Given the description of an element on the screen output the (x, y) to click on. 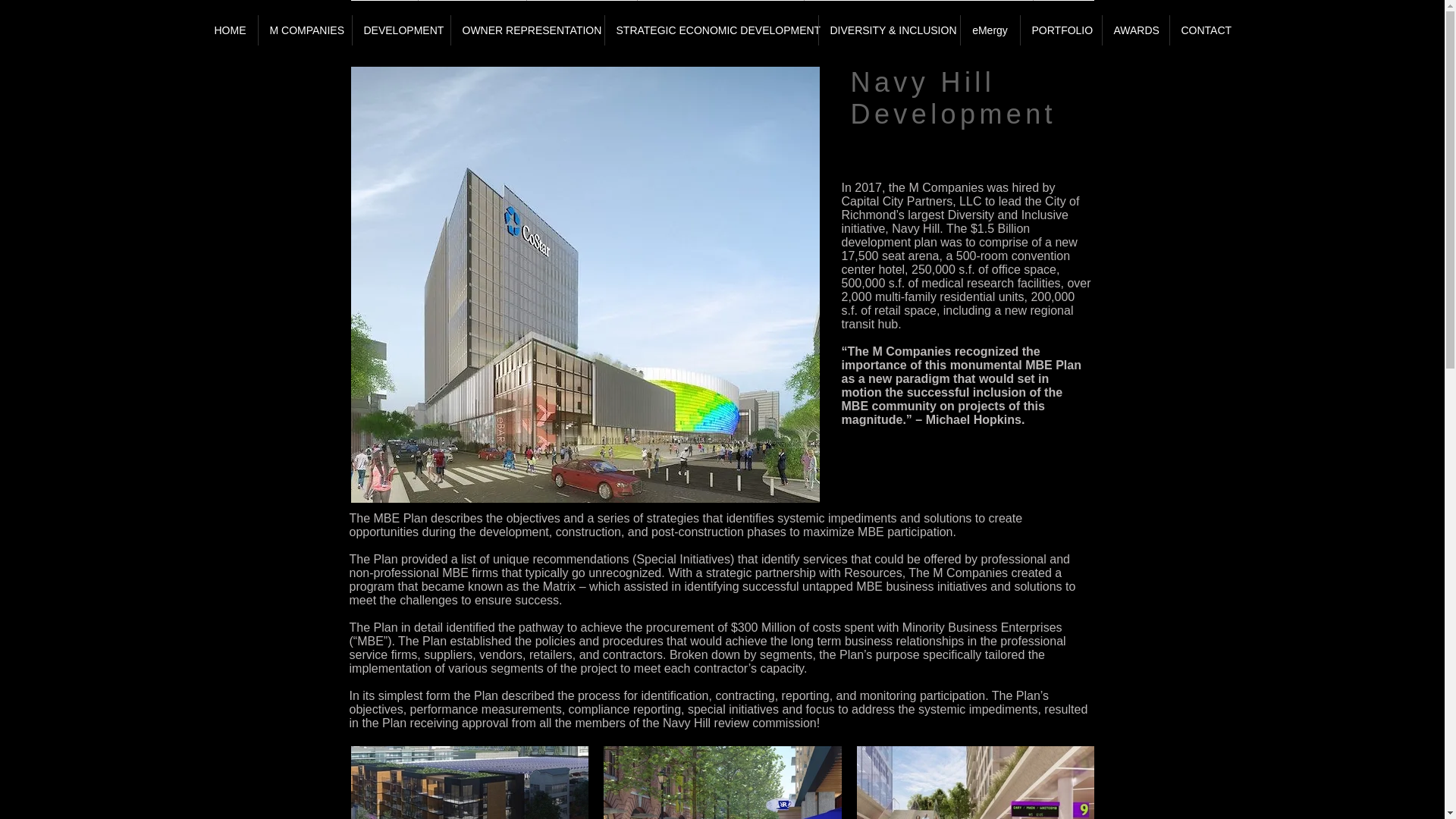
AWARDS (1135, 30)
eMergy (989, 30)
HOME (230, 30)
HOME (383, 0)
CONTACT (1205, 30)
STRATEGIC ECONOMIC DEVELOPMENT (711, 30)
OWNER REPRESENTATION (526, 30)
